Given the description of an element on the screen output the (x, y) to click on. 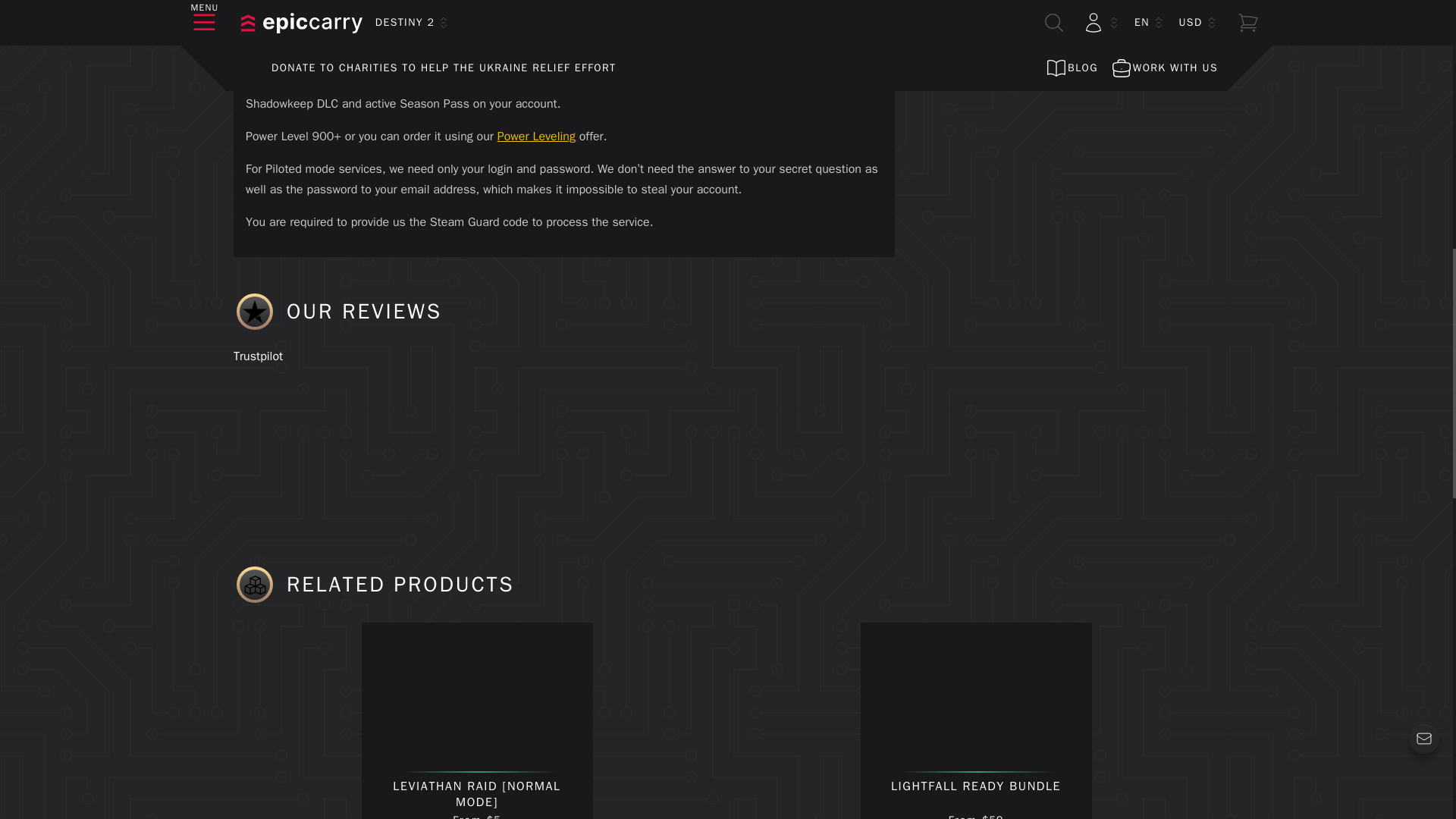
Trustpilot (257, 355)
Power Leveling (536, 136)
Lightfall Ready Bundle (975, 699)
